Given the description of an element on the screen output the (x, y) to click on. 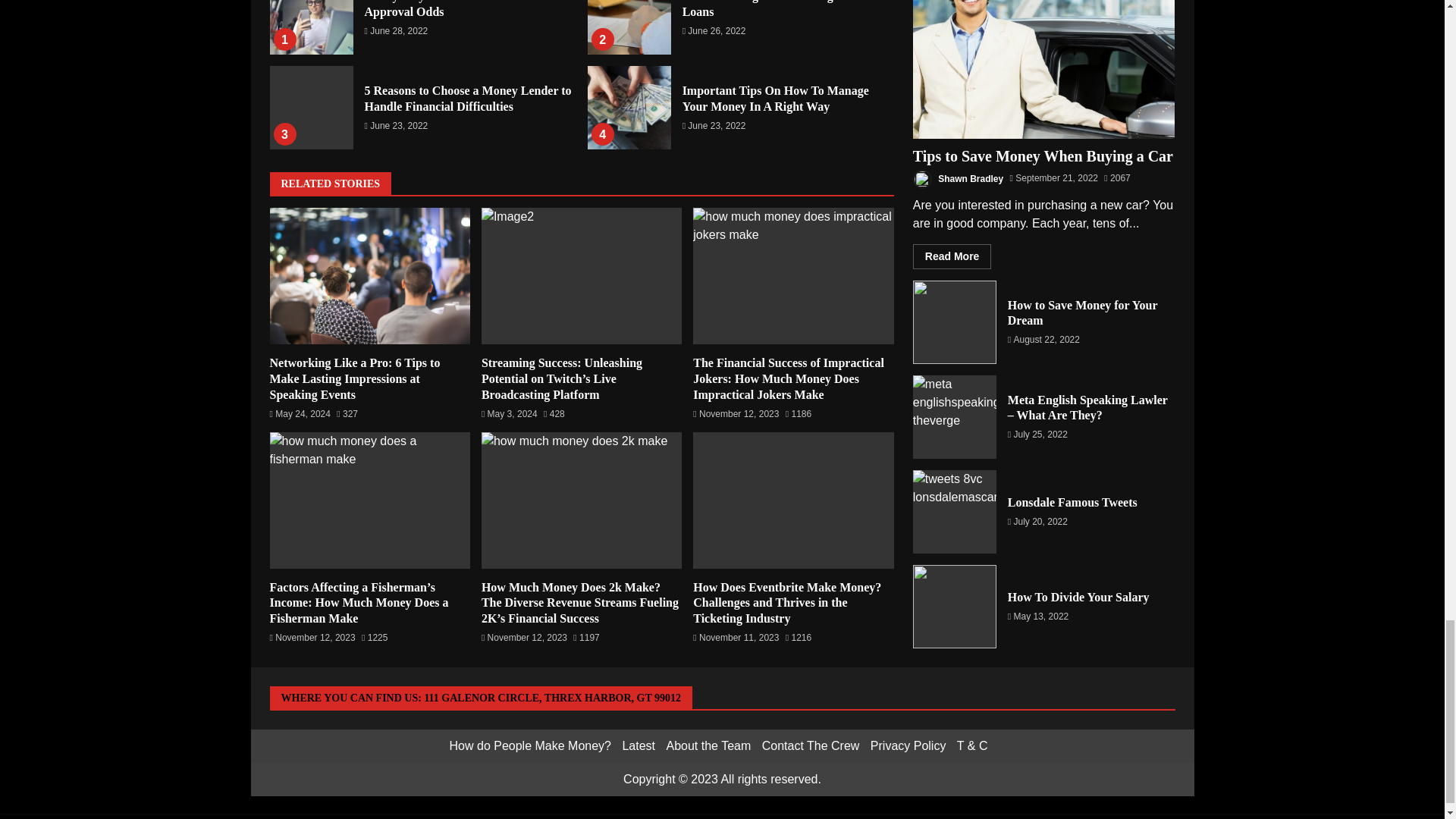
327 (347, 414)
428 (553, 414)
5 Easy Ways to Boost Personal Loan Approval Odds (458, 9)
Important Tips On How To Manage Your Money In A Right Way (629, 107)
5 Easy Ways to Boost Personal Loan Approval Odds (311, 27)
1186 (798, 414)
Important Tips On How To Manage Your Money In A Right Way (775, 98)
